Given the description of an element on the screen output the (x, y) to click on. 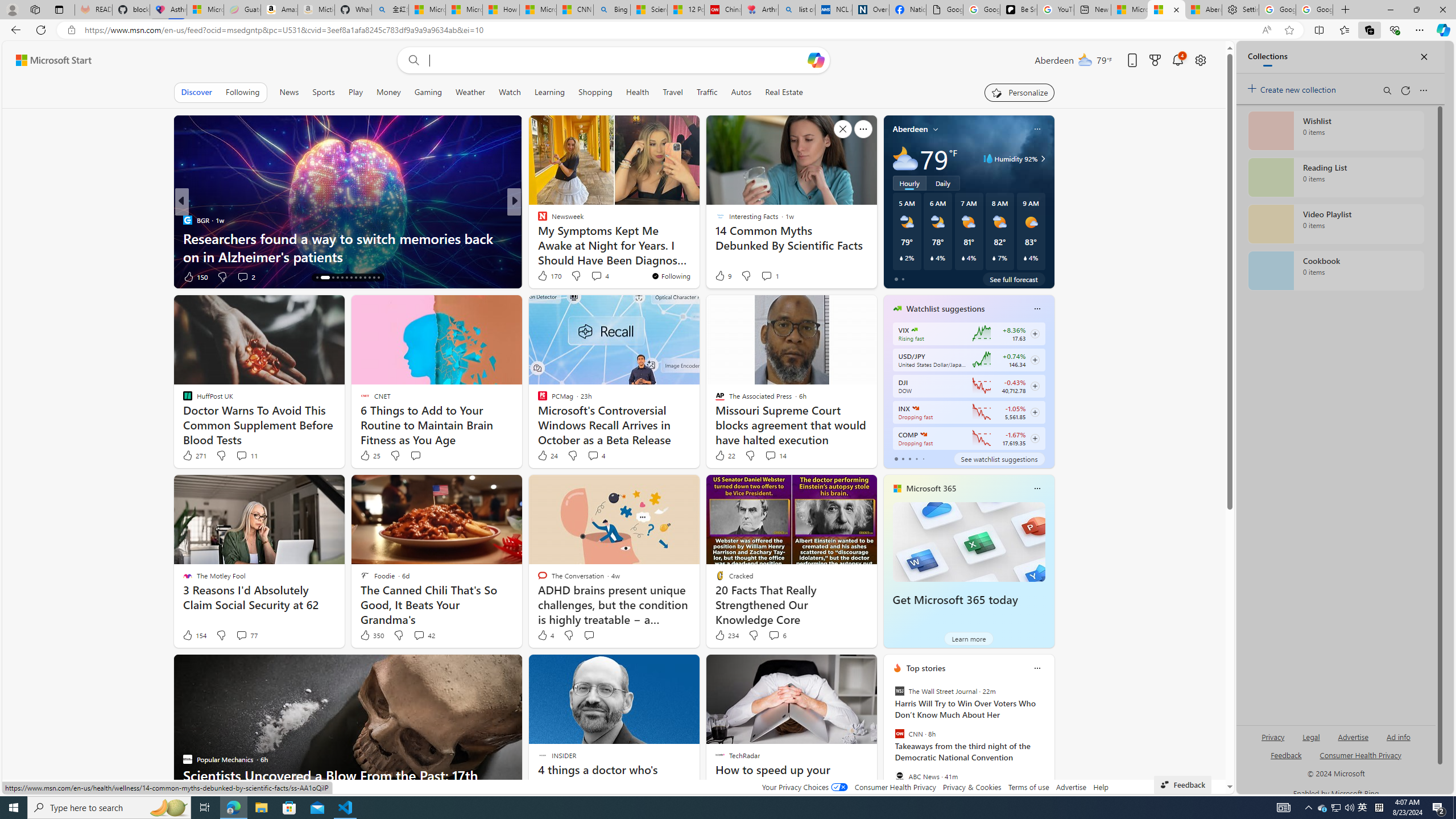
28 Like (543, 276)
The Wall Street Journal (898, 691)
View comments 73 Comment (597, 276)
AutomationID: tab-26 (378, 277)
4 Like (545, 634)
104 Like (545, 276)
View comments 5 Comment (589, 276)
